Given the description of an element on the screen output the (x, y) to click on. 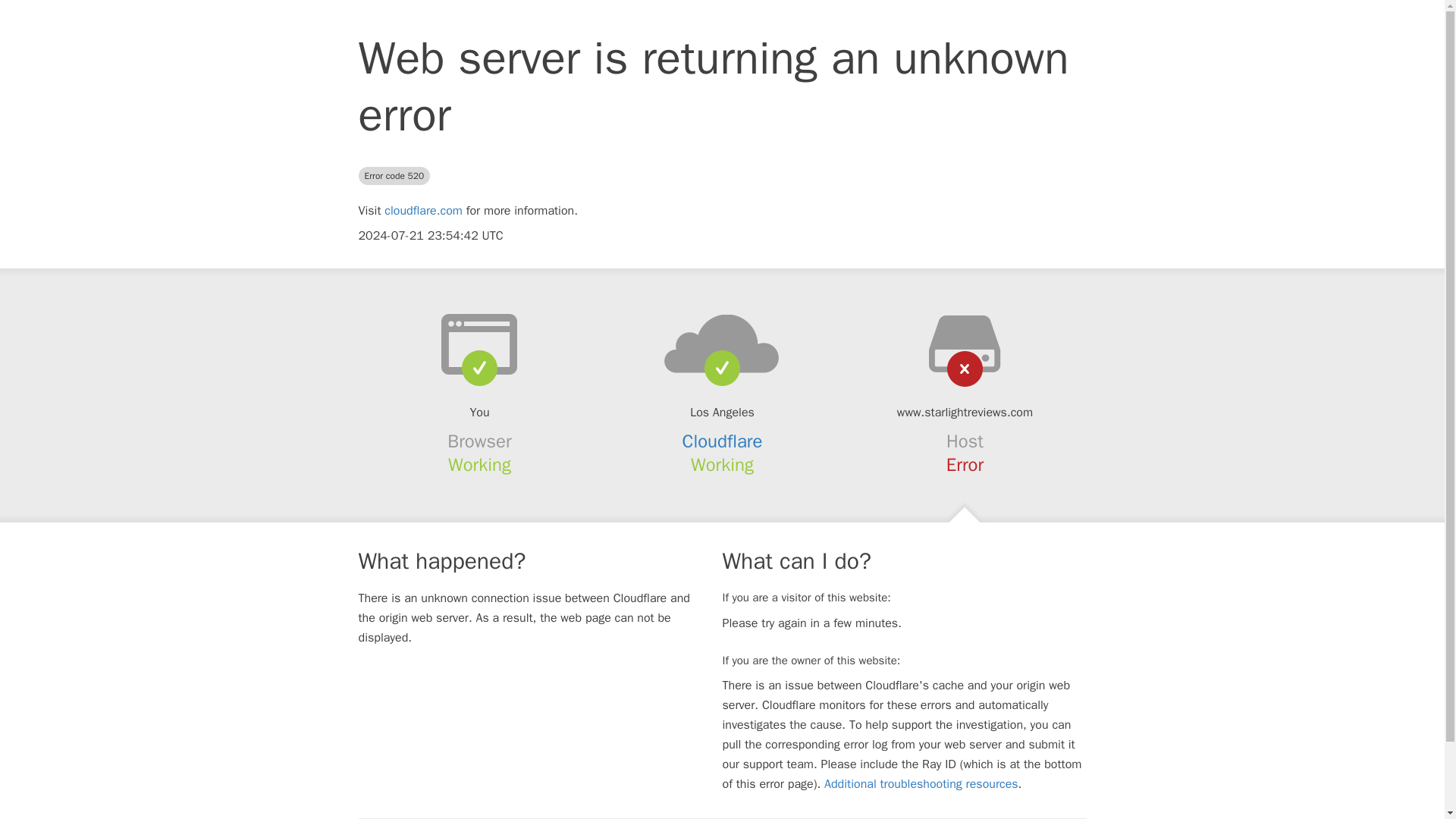
cloudflare.com (423, 210)
Additional troubleshooting resources (920, 783)
Cloudflare (722, 440)
